Given the description of an element on the screen output the (x, y) to click on. 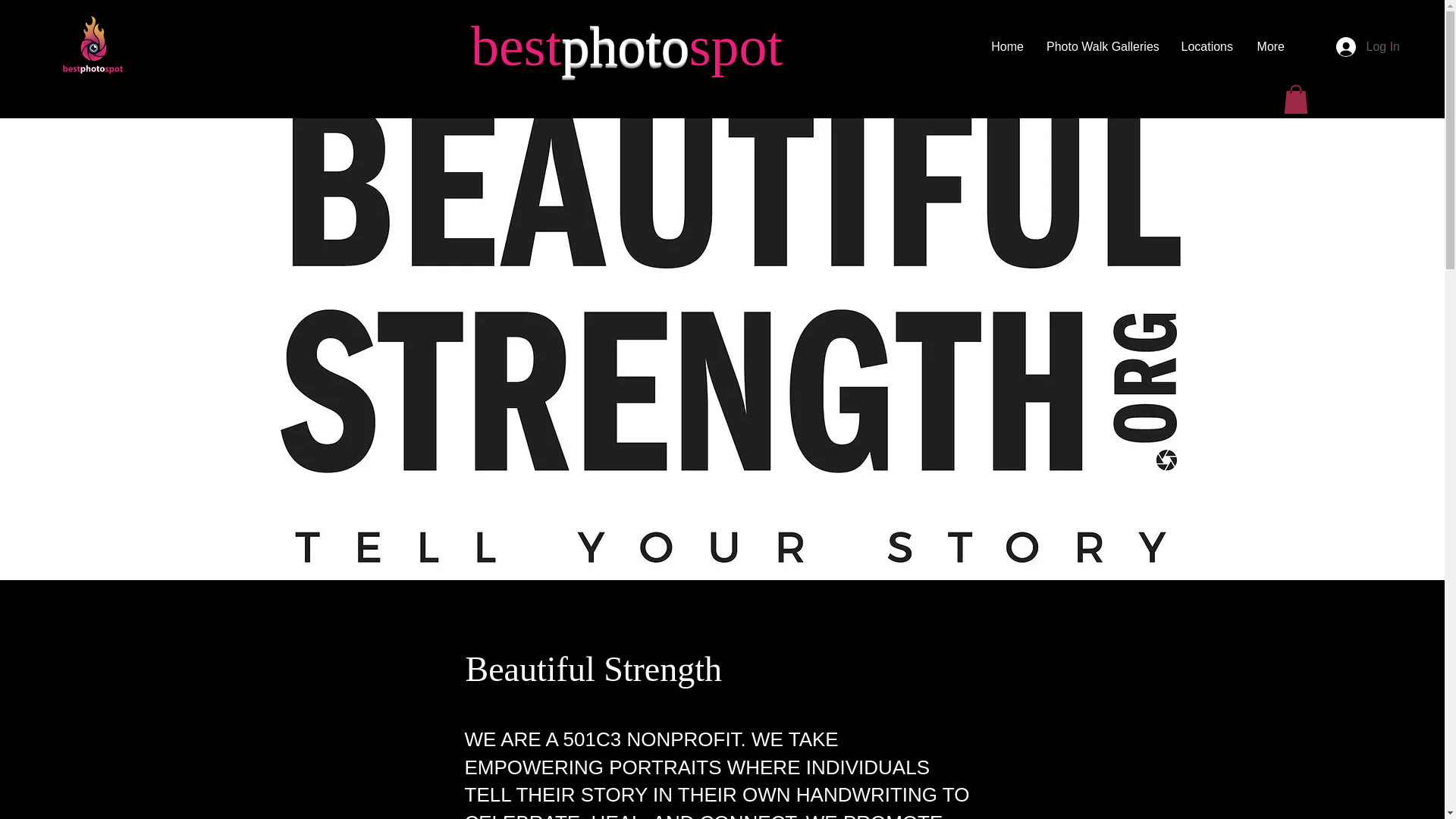
Log In (1367, 46)
Locations (1206, 46)
Photo Walk Galleries (1102, 46)
Home (1006, 46)
